Given the description of an element on the screen output the (x, y) to click on. 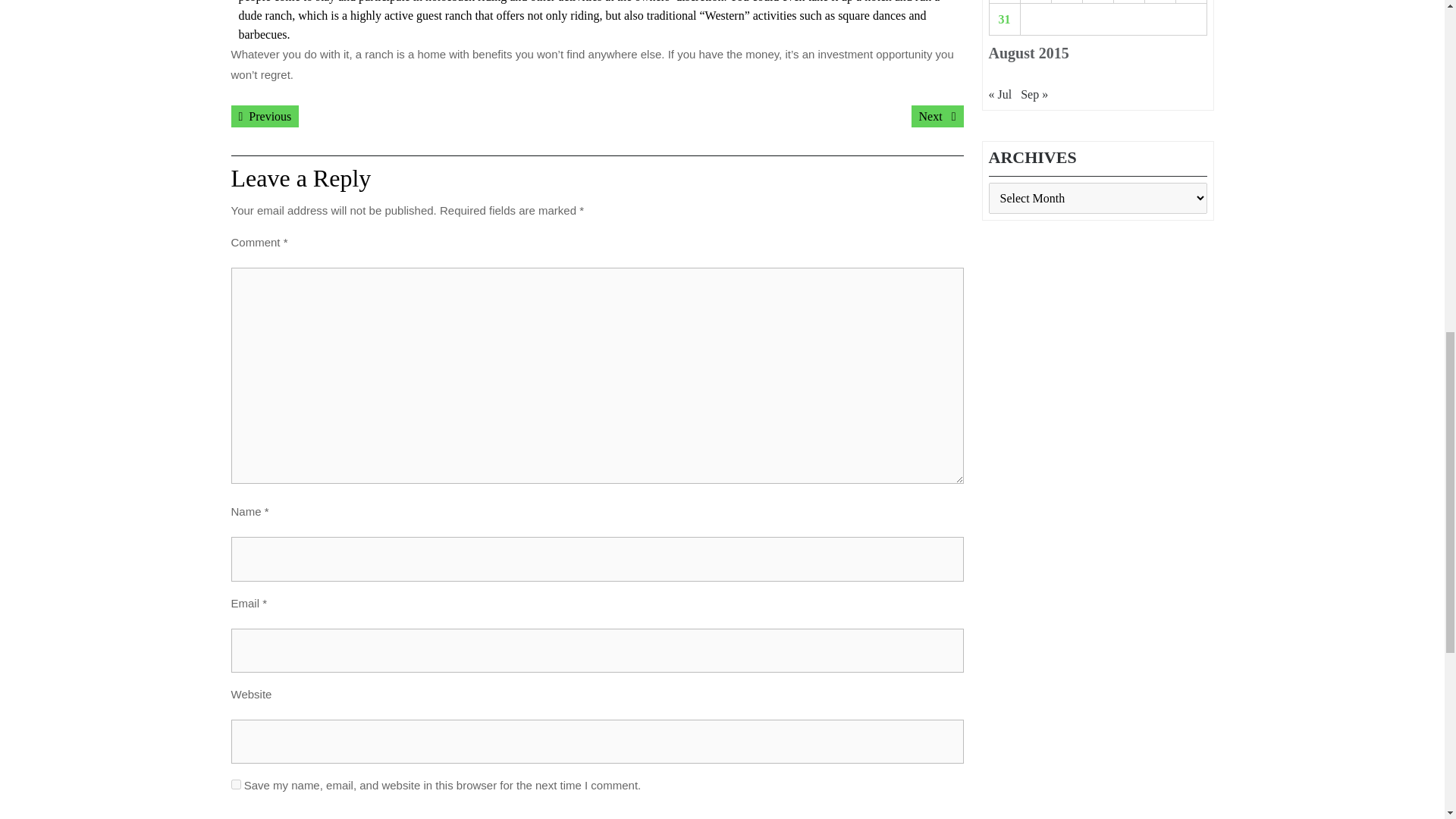
yes (235, 784)
